Given the description of an element on the screen output the (x, y) to click on. 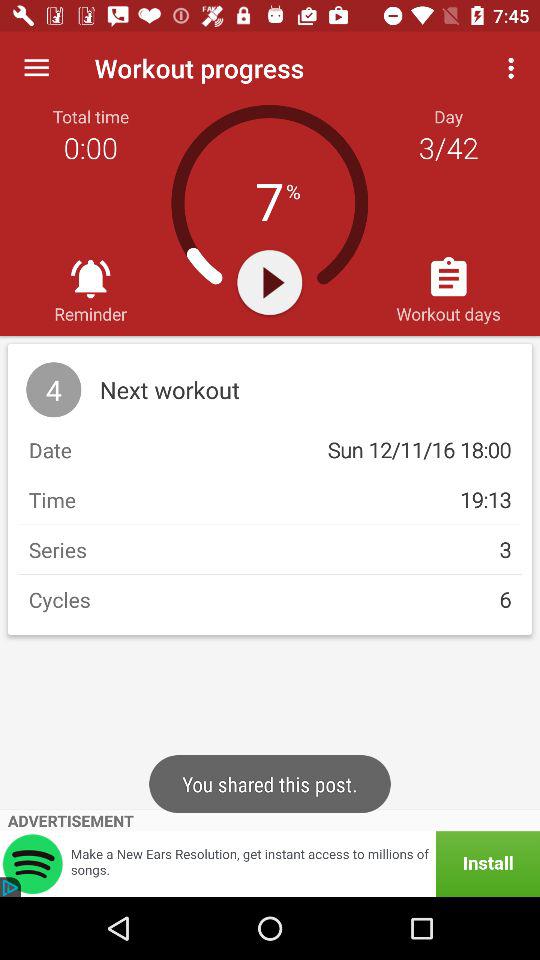
turn off the item above total time item (36, 68)
